Given the description of an element on the screen output the (x, y) to click on. 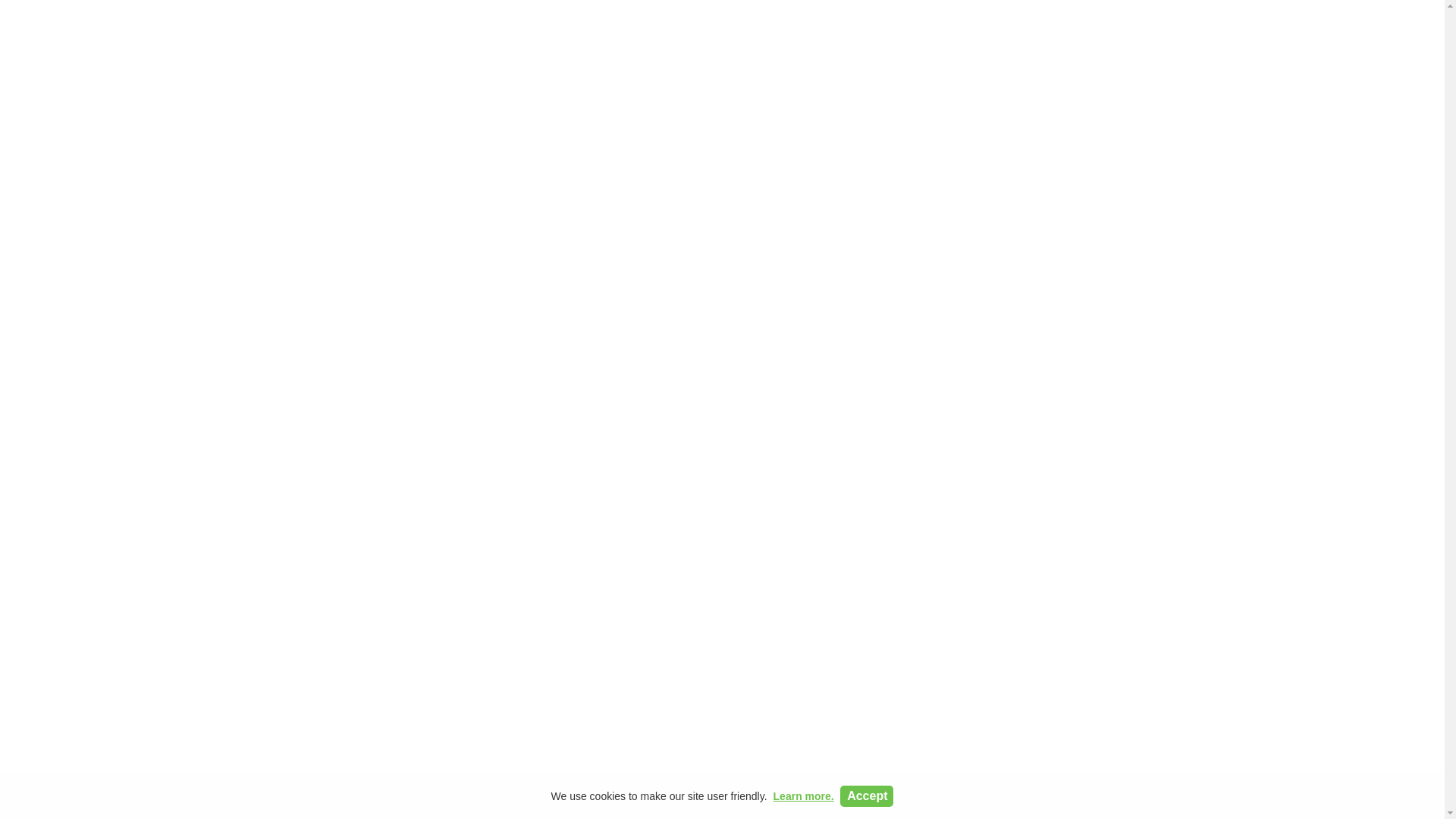
Learn more. (803, 796)
Accept (866, 795)
